Given the description of an element on the screen output the (x, y) to click on. 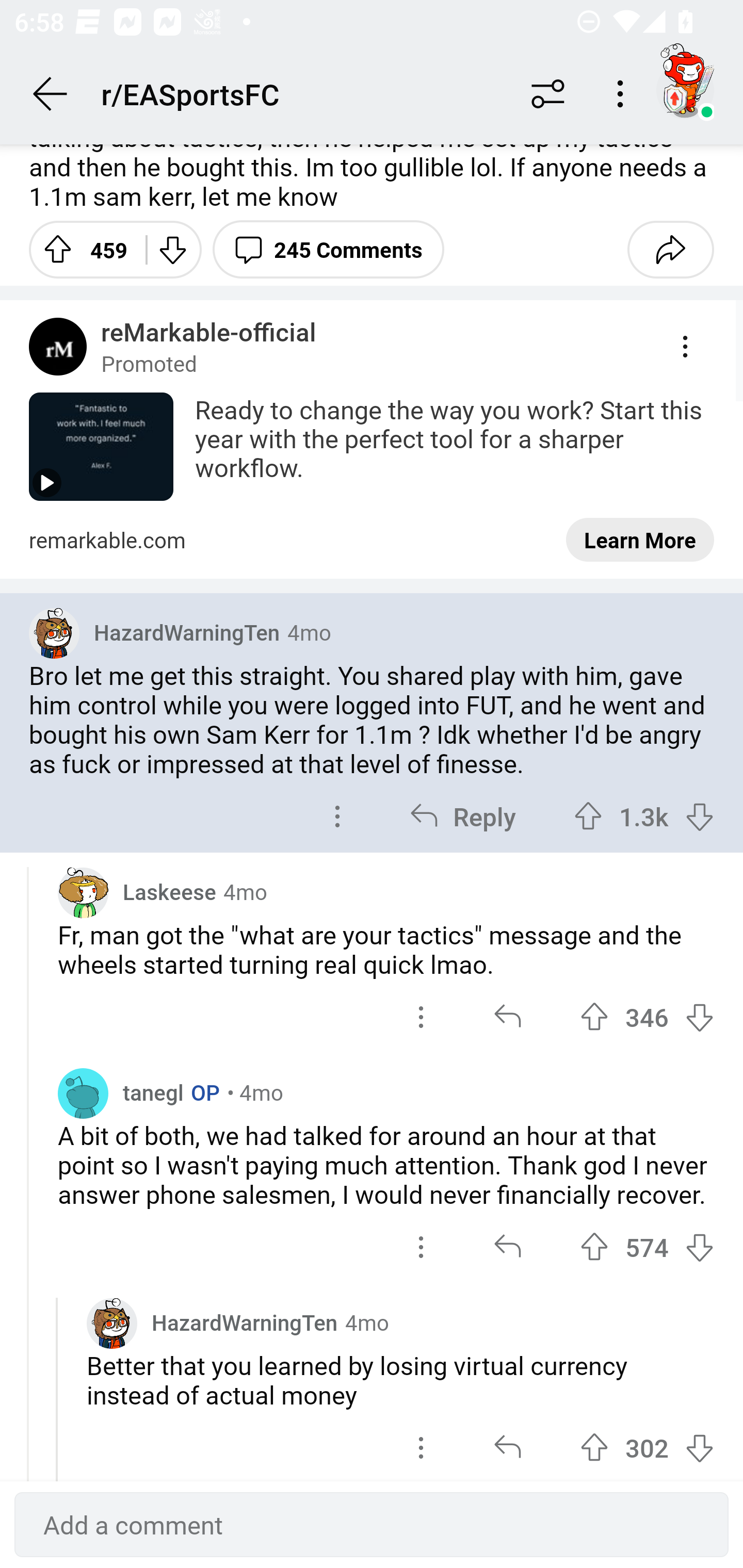
Back (50, 93)
TestAppium002 account (685, 90)
Sort comments (547, 93)
More options (623, 93)
r/EASportsFC (302, 92)
Upvote 459 (79, 249)
Downvote (171, 249)
245 Comments (328, 249)
Share (670, 249)
Custom avatar (53, 633)
options (337, 816)
Reply (462, 816)
Upvote 1.3k 1287 votes Downvote (643, 816)
Custom avatar (82, 892)
options (420, 1017)
Upvote 346 346 votes Downvote (647, 1017)
Avatar (82, 1092)
OP (201, 1092)
options (420, 1246)
Upvote 574 574 votes Downvote (647, 1246)
Custom avatar (111, 1323)
options (420, 1446)
Upvote 302 302 votes Downvote (647, 1446)
Add a comment (371, 1524)
